Given the description of an element on the screen output the (x, y) to click on. 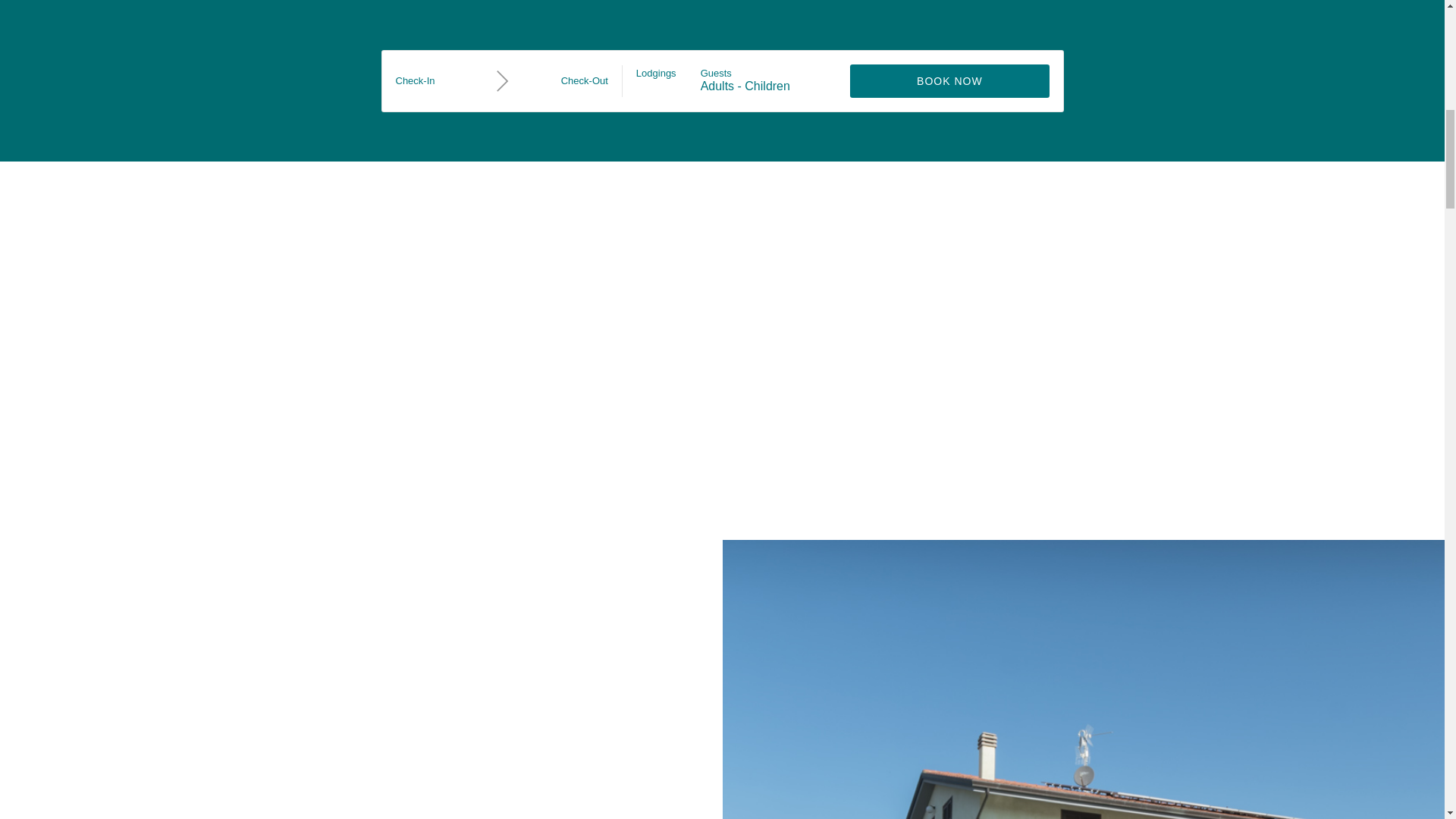
Book Now (949, 80)
YouTube player (721, 347)
Book Now (949, 80)
